Given the description of an element on the screen output the (x, y) to click on. 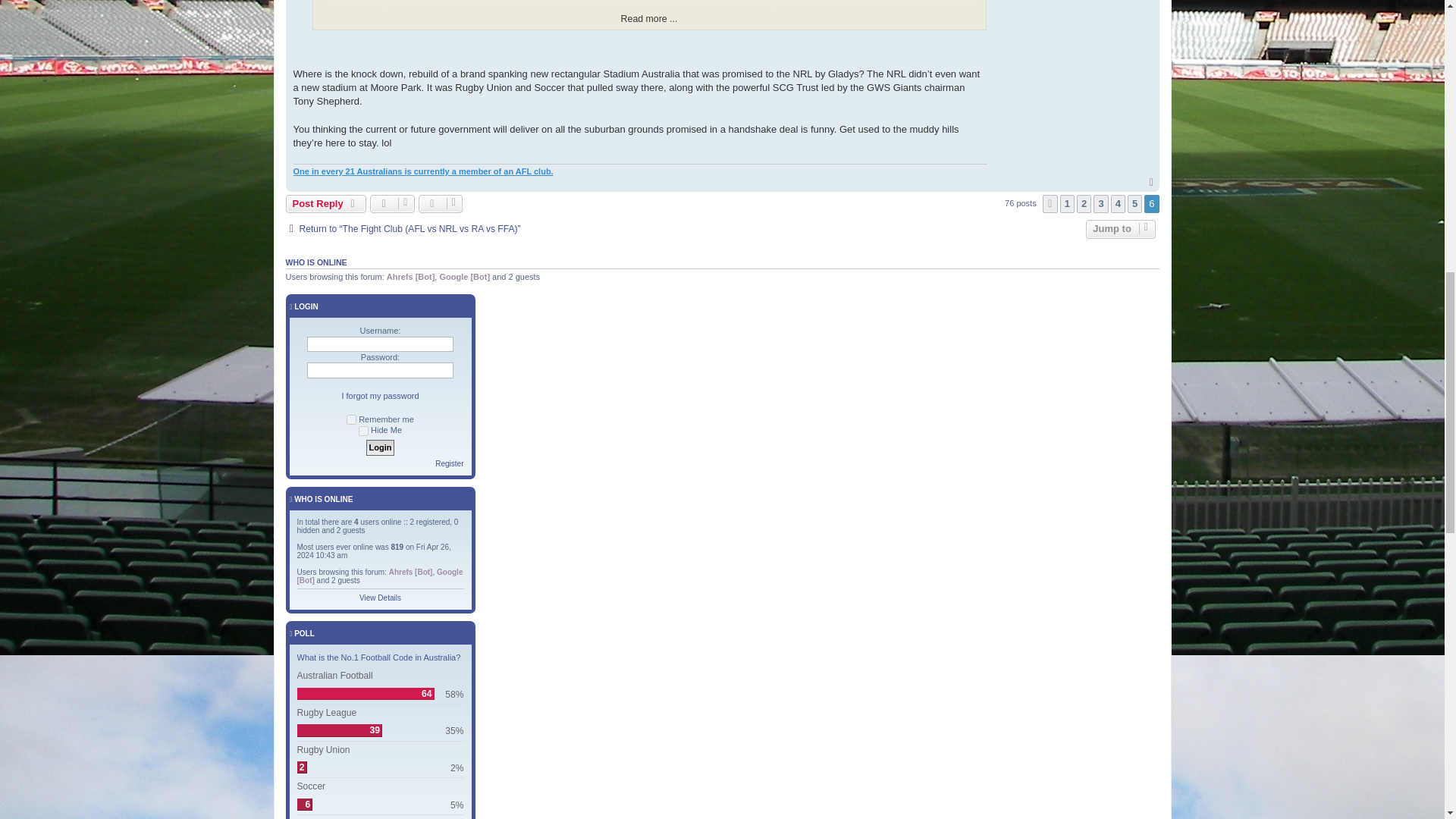
Login (380, 447)
on (363, 430)
on (351, 419)
